Given the description of an element on the screen output the (x, y) to click on. 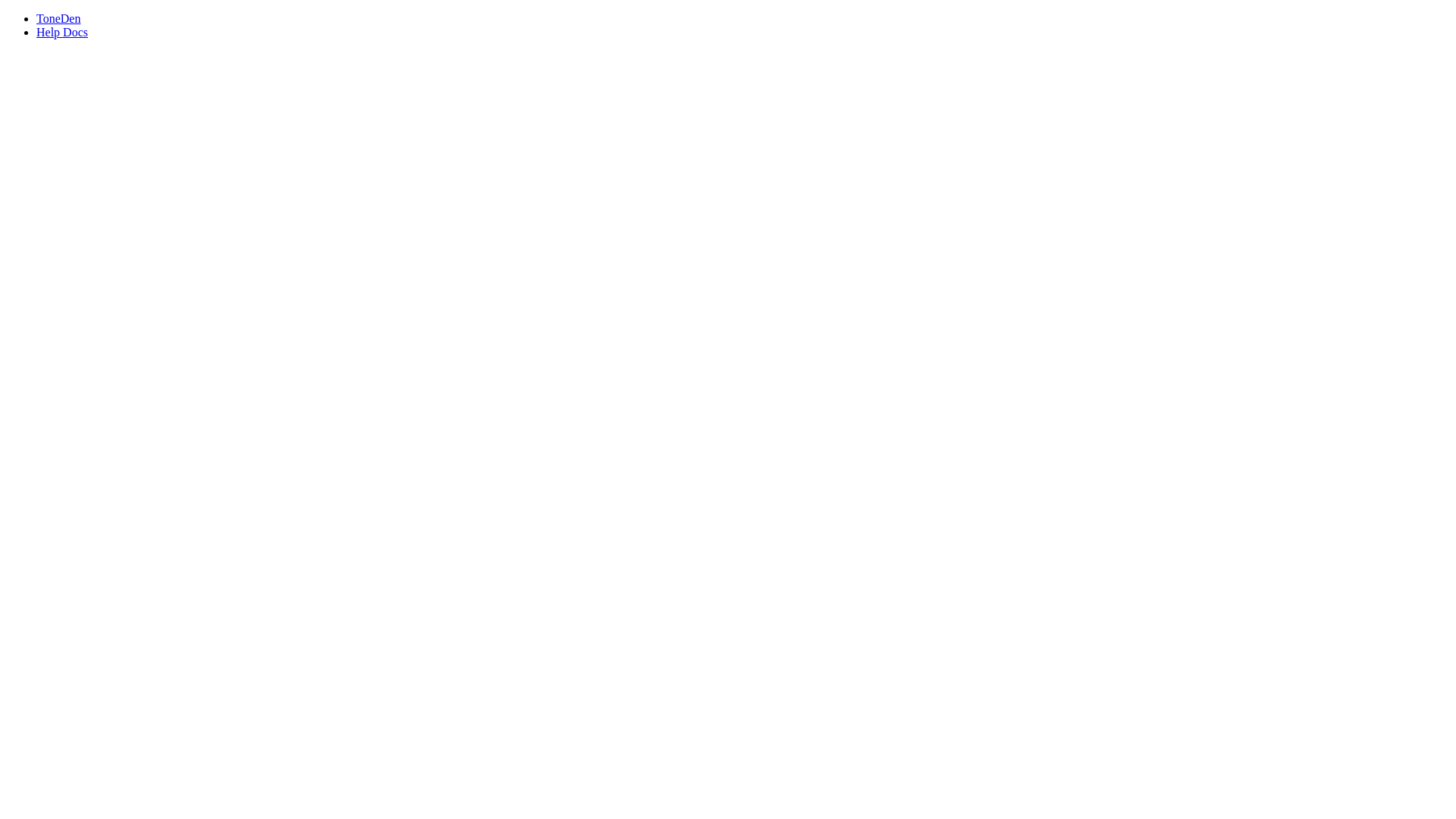
Help Docs Element type: text (61, 31)
ToneDen Element type: text (742, 18)
